Given the description of an element on the screen output the (x, y) to click on. 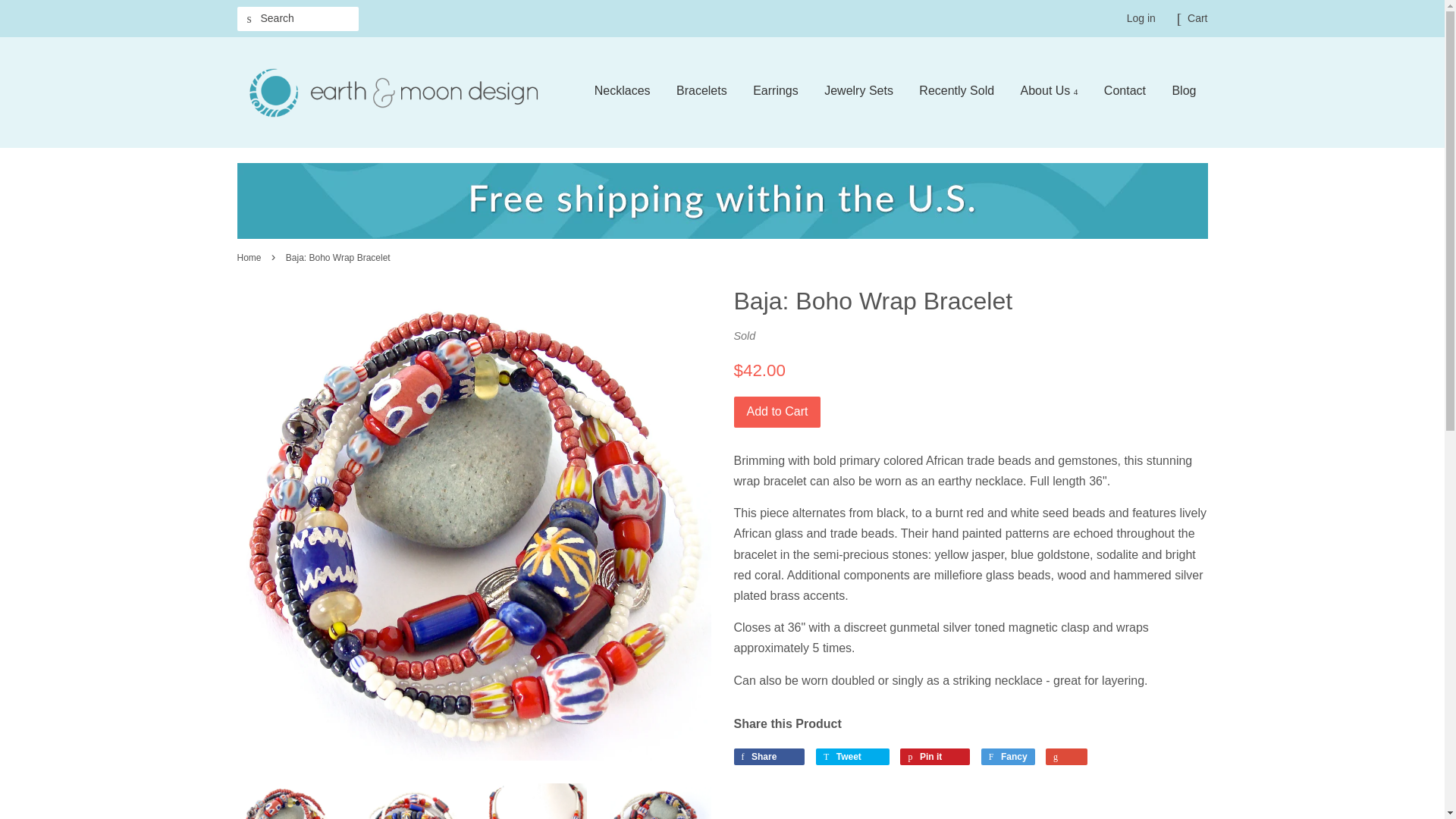
Back to the frontpage (249, 257)
Add to Cart (777, 411)
About Us (1049, 92)
Log in (1141, 18)
See all products tagged 'Sold' (744, 336)
Recently Sold (956, 92)
Home (249, 257)
Pin it (934, 756)
Tweet (852, 756)
Jewelry Sets (858, 92)
Necklaces (622, 92)
Earrings (775, 92)
Bracelets (701, 92)
Cart (1197, 18)
Share (769, 756)
